Given the description of an element on the screen output the (x, y) to click on. 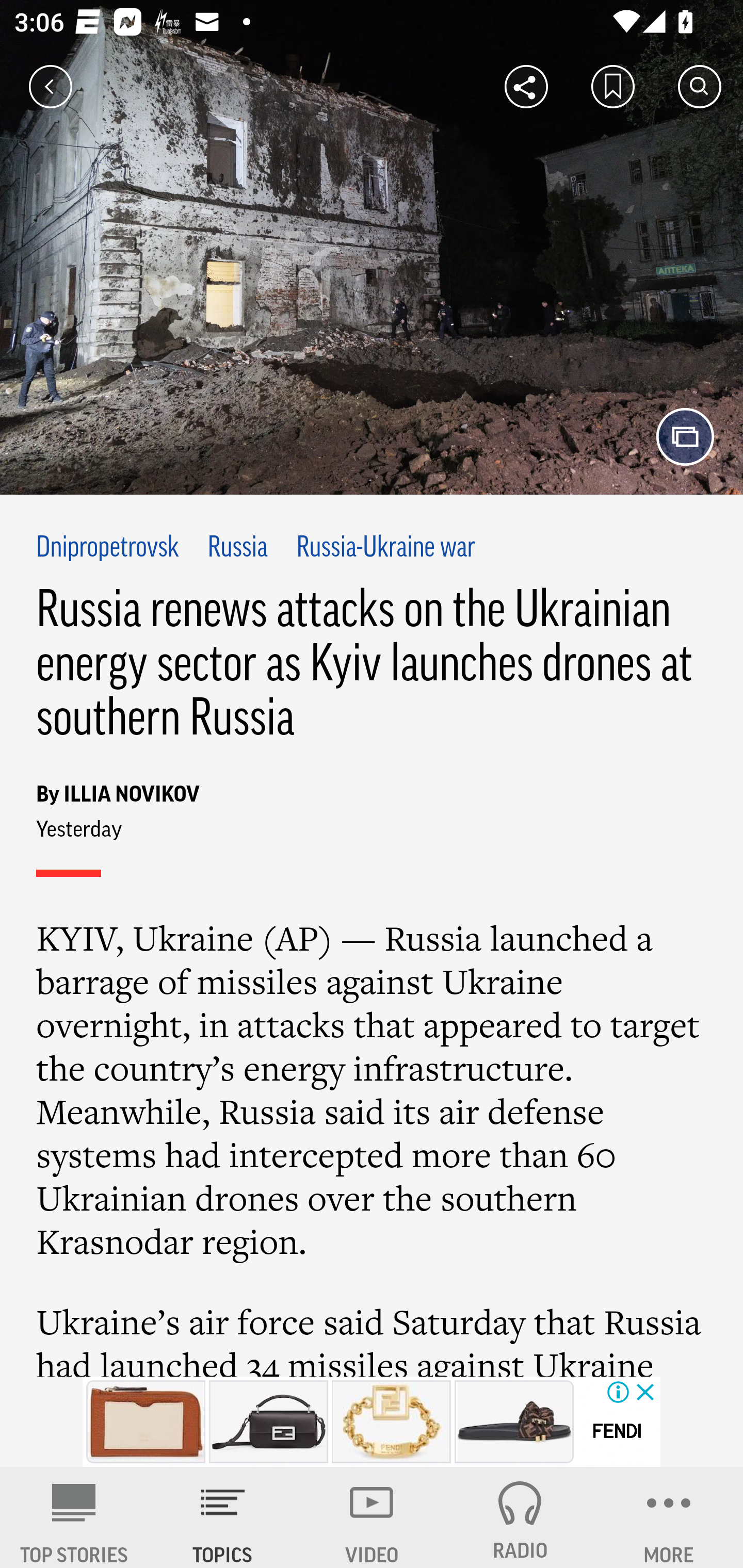
Dnipropetrovsk (108, 548)
Russia (236, 548)
Russia-Ukraine war (386, 548)
fendi-feel-brown-satin-slides-8x8142ae7sf0r7v (513, 1420)
AP News TOP STORIES (74, 1517)
TOPICS (222, 1517)
VIDEO (371, 1517)
RADIO (519, 1517)
MORE (668, 1517)
